Given the description of an element on the screen output the (x, y) to click on. 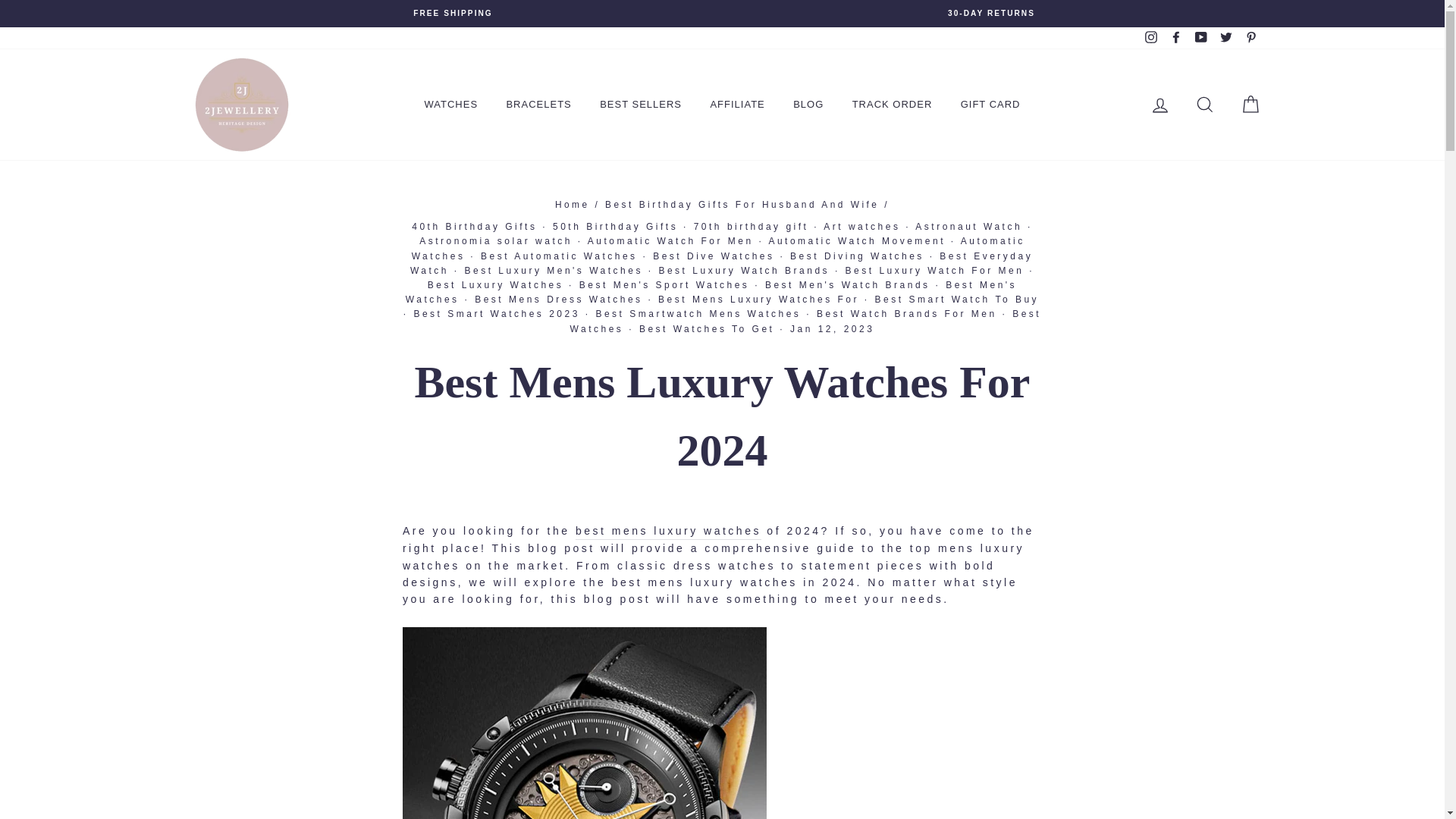
YouTube (1201, 38)
Best Mens Luxury Watches (668, 530)
Twitter (1225, 38)
Instagram (1150, 38)
FREE SHIPPING (453, 13)
